Given the description of an element on the screen output the (x, y) to click on. 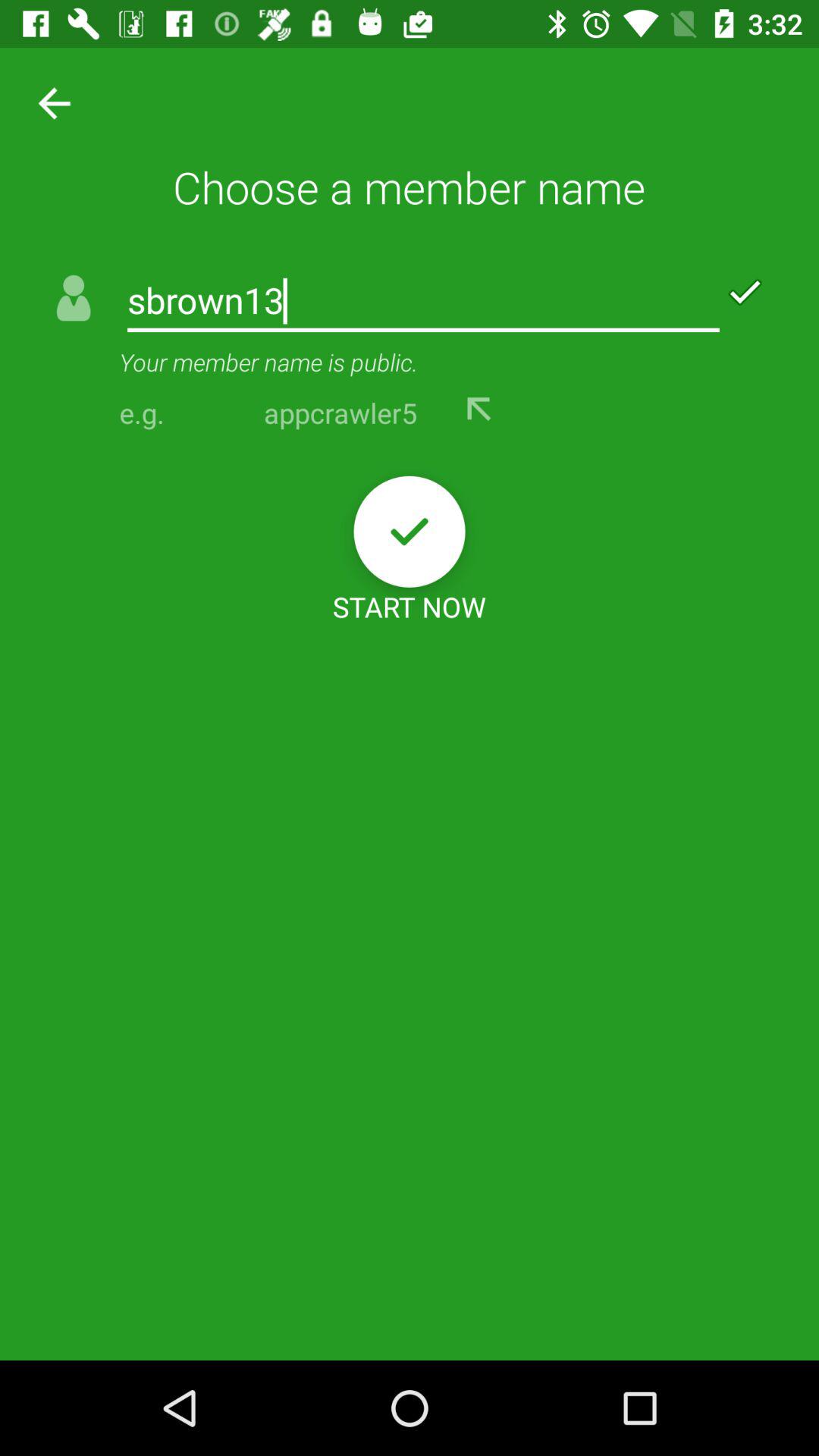
open the item above the start now icon (409, 531)
